Given the description of an element on the screen output the (x, y) to click on. 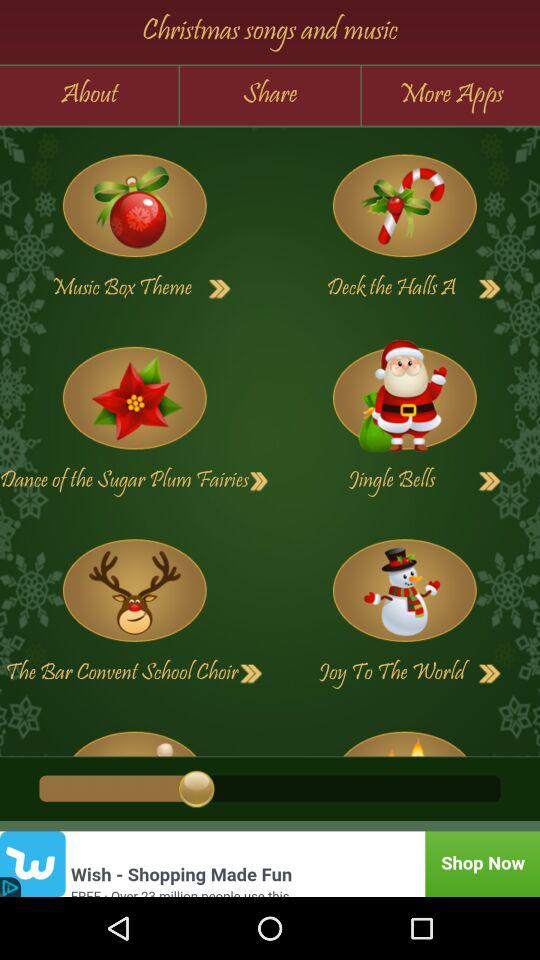
game (404, 590)
